Given the description of an element on the screen output the (x, y) to click on. 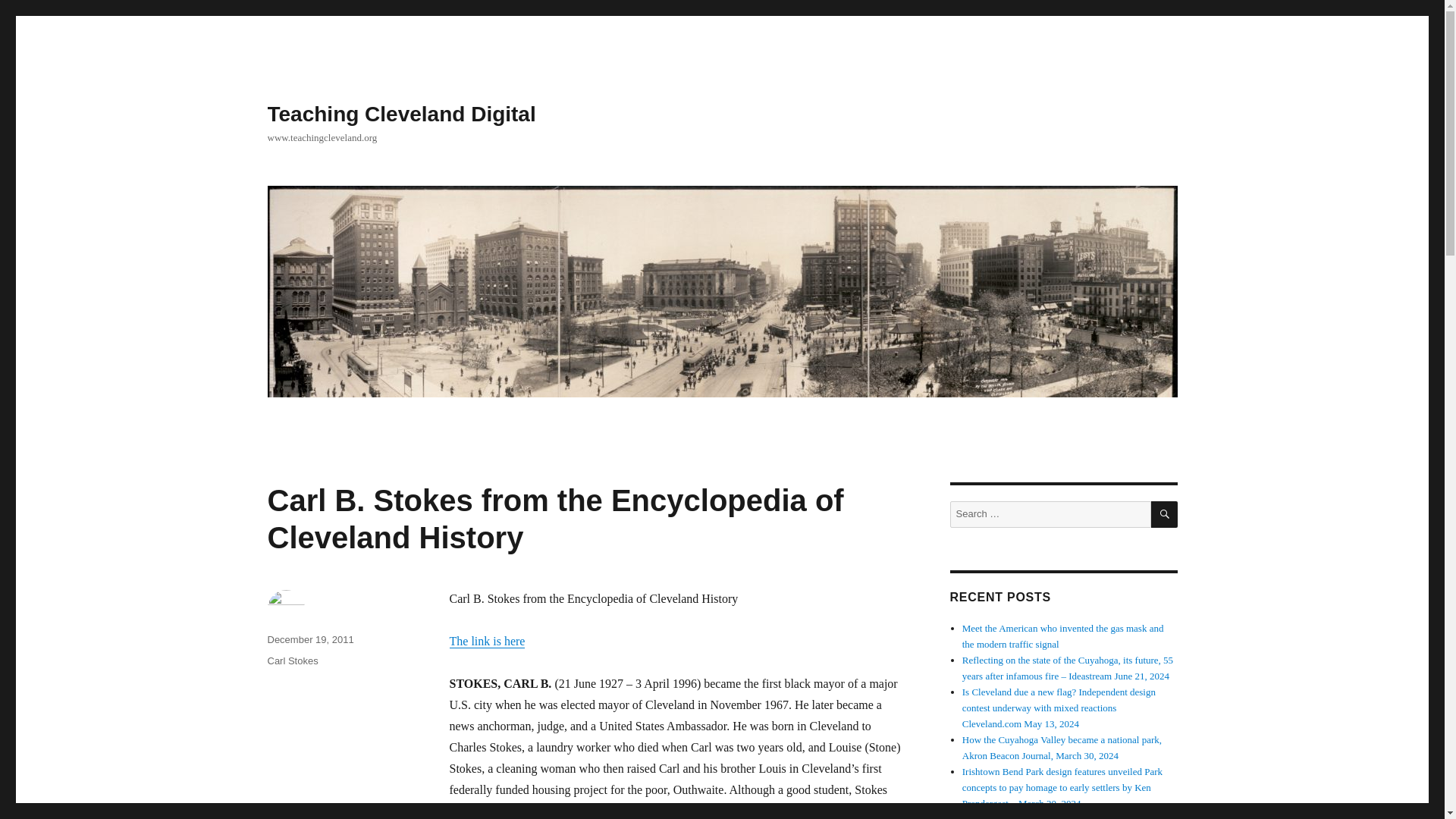
December 19, 2011 (309, 639)
Carl Stokes (291, 660)
Teaching Cleveland Digital (400, 114)
SEARCH (1164, 514)
The link is here (486, 640)
TRW, INC. (855, 811)
